Given the description of an element on the screen output the (x, y) to click on. 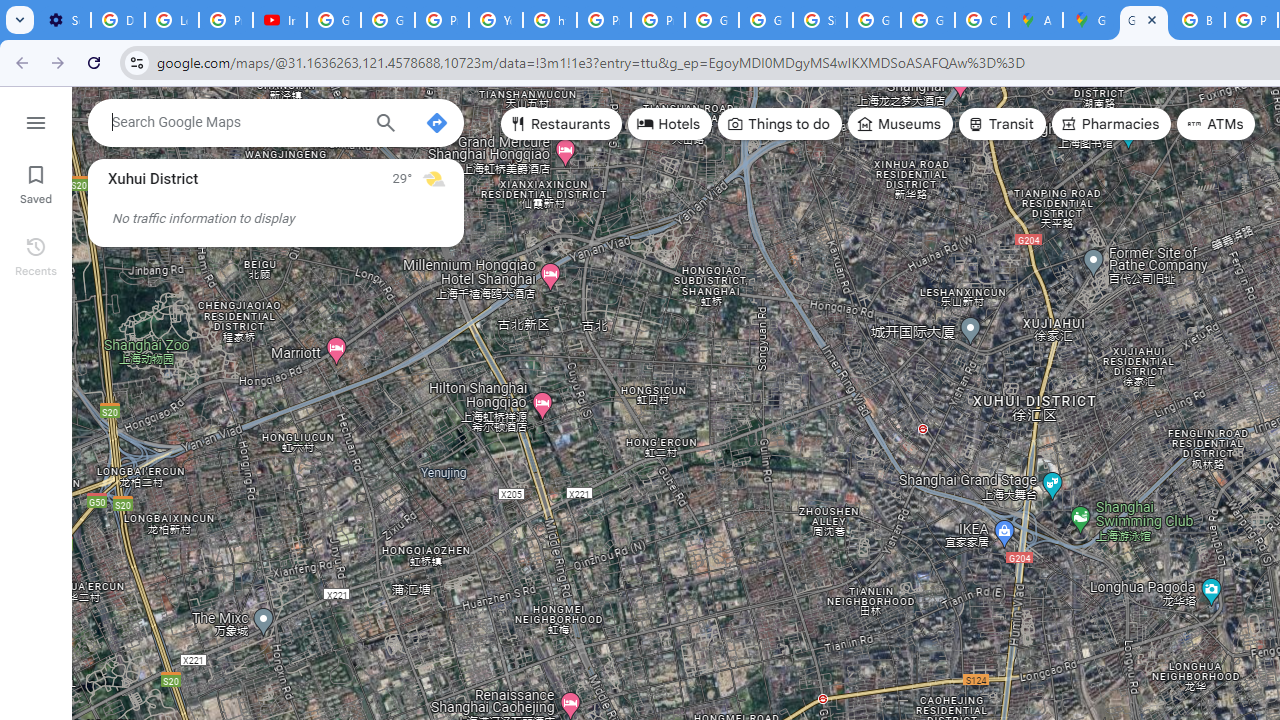
Create your Google Account (981, 20)
Restaurants (561, 124)
Privacy Help Center - Policies Help (604, 20)
Things to do (780, 124)
Google Maps (1144, 20)
Introduction | Google Privacy Policy - YouTube (280, 20)
Transit (1001, 124)
Hotels (670, 124)
ATMs (1216, 124)
Search Google Maps (235, 121)
Pharmacies (1111, 124)
YouTube (495, 20)
